Given the description of an element on the screen output the (x, y) to click on. 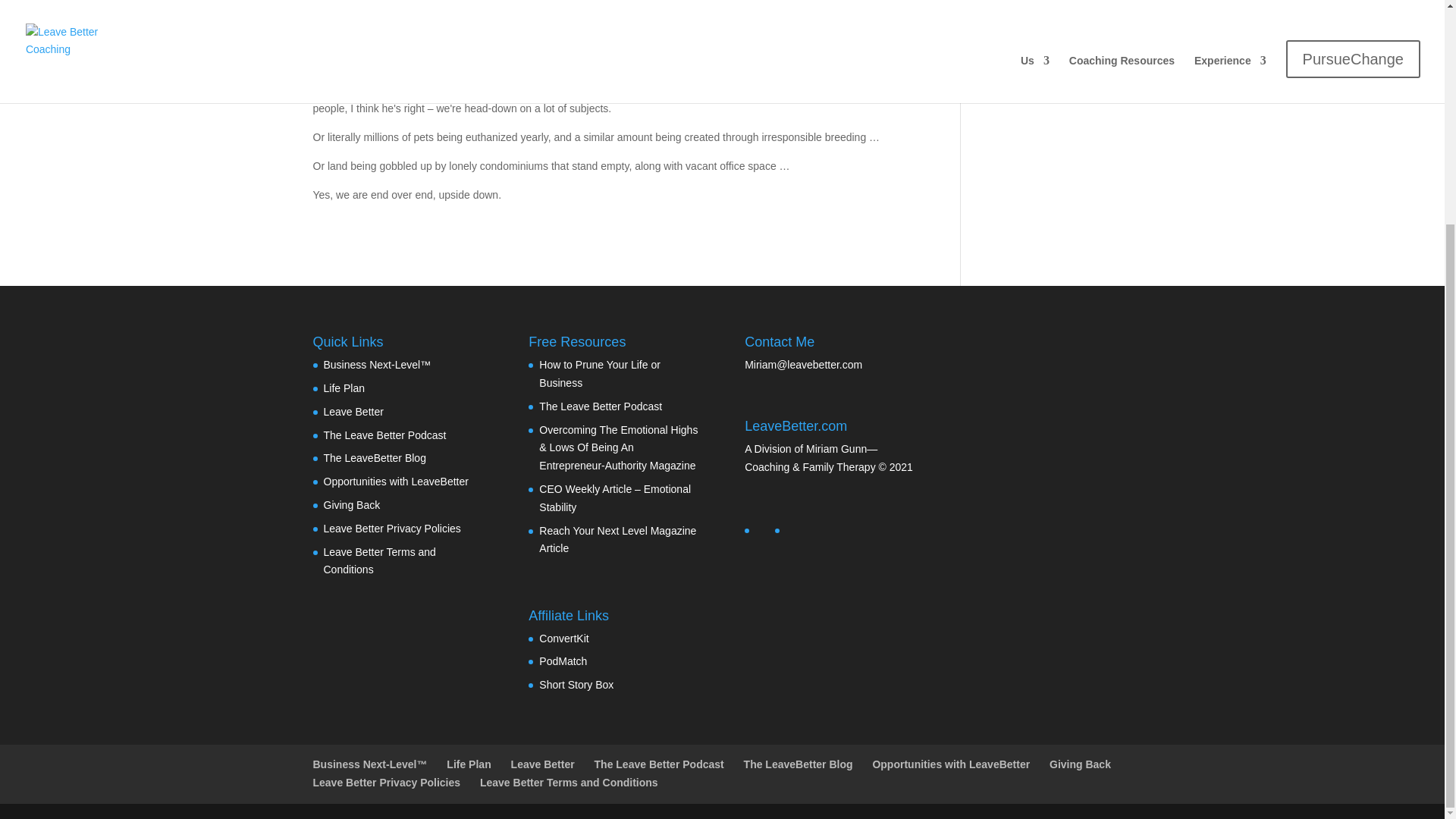
The Leave Better Podcast (384, 435)
PodMatch (562, 661)
Short Story Box (575, 684)
Opportunities with LeaveBetter (395, 481)
How to Prune Your Life or Business (599, 373)
ConvertKit (563, 638)
Life Plan (343, 387)
Leave Better (352, 411)
Leave Better Privacy Policies (391, 528)
The LeaveBetter Blog (374, 458)
